Given the description of an element on the screen output the (x, y) to click on. 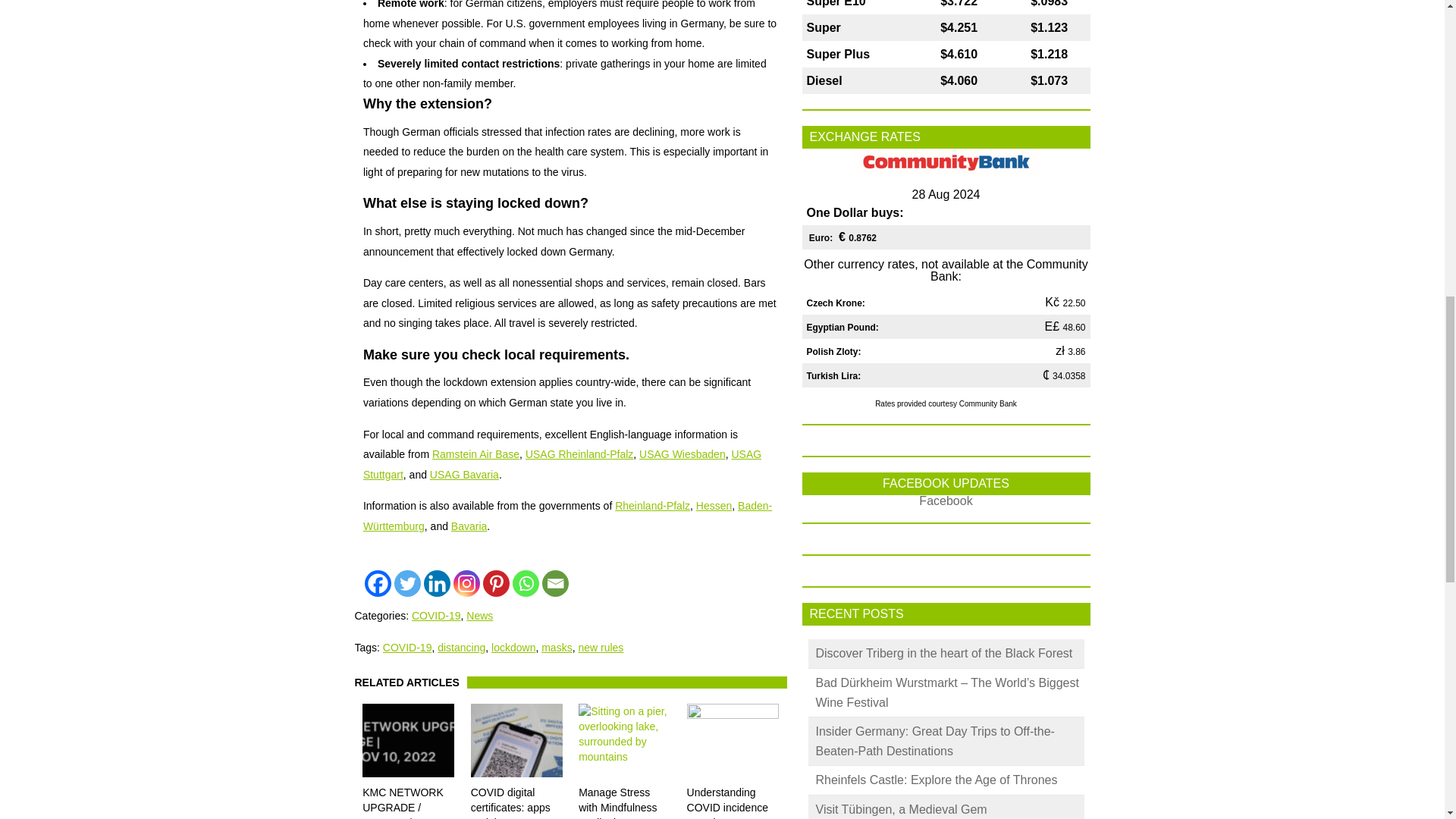
Twitter (407, 583)
Facebook (378, 583)
Linkedin (436, 583)
